Given the description of an element on the screen output the (x, y) to click on. 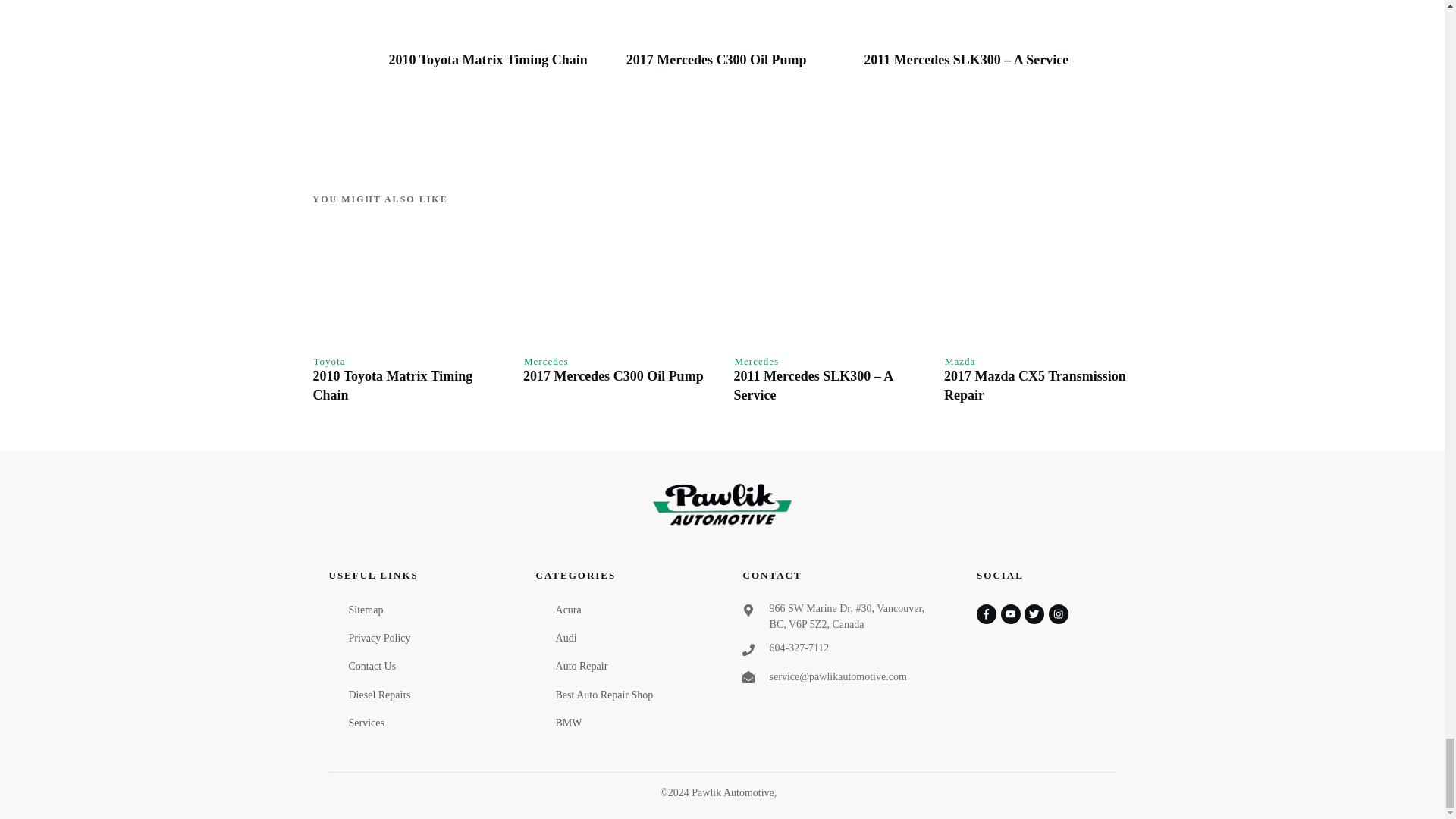
Toyota (330, 360)
2017 Mercedes C300 Oil Pump (716, 59)
Mercedes (546, 360)
2010 Toyota Matrix Timing Chain (392, 385)
2017 Mercedes C300 Oil Pump (612, 376)
2010 Toyota Matrix Timing Chain (487, 59)
Mazda (959, 360)
Mercedes (755, 360)
